Given the description of an element on the screen output the (x, y) to click on. 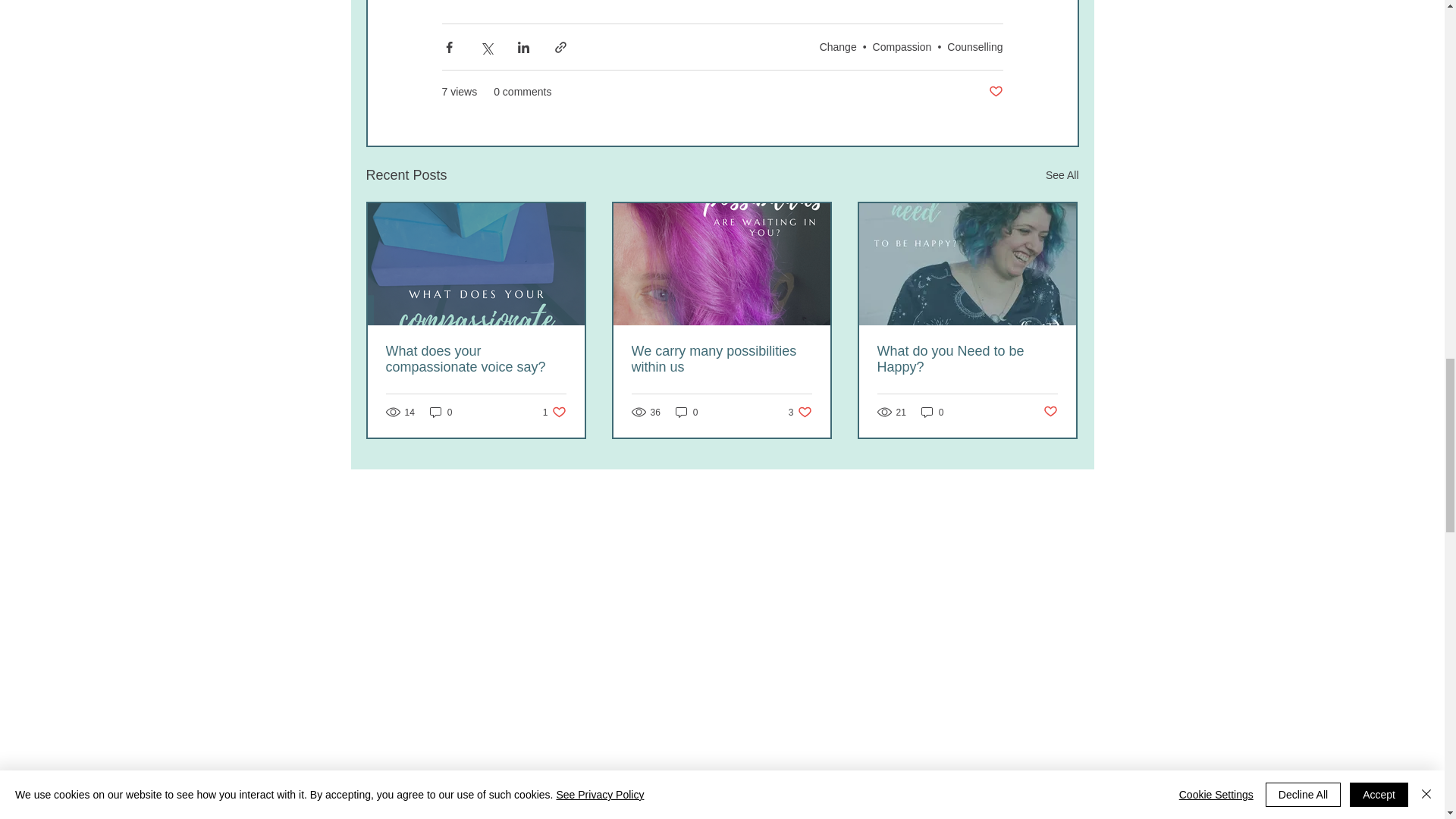
See All (1061, 175)
0 (441, 411)
Change (838, 46)
We carry many possibilities within us (720, 359)
Post not marked as liked (554, 411)
What does your compassionate voice say? (995, 91)
Counselling (475, 359)
Compassion (975, 46)
